Given the description of an element on the screen output the (x, y) to click on. 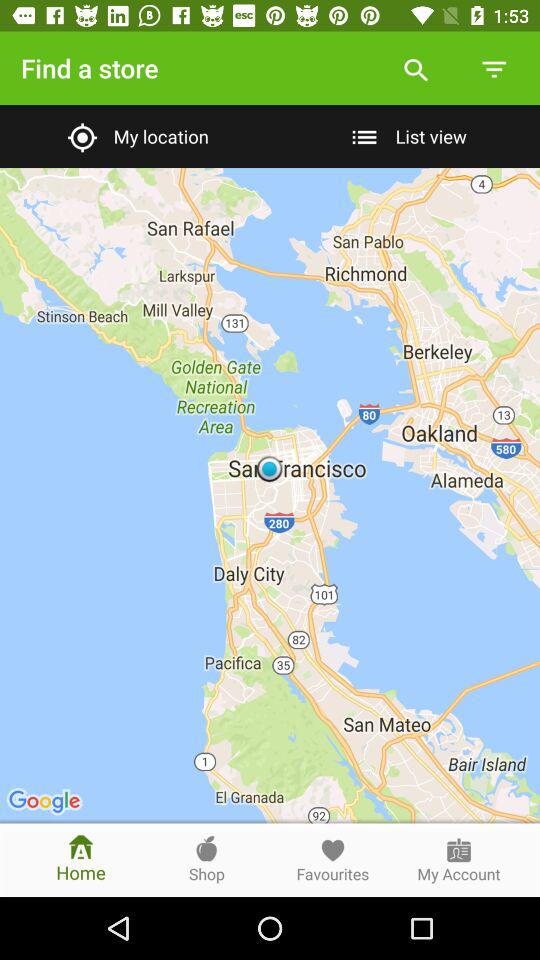
turn on item below my location item (270, 495)
